Given the description of an element on the screen output the (x, y) to click on. 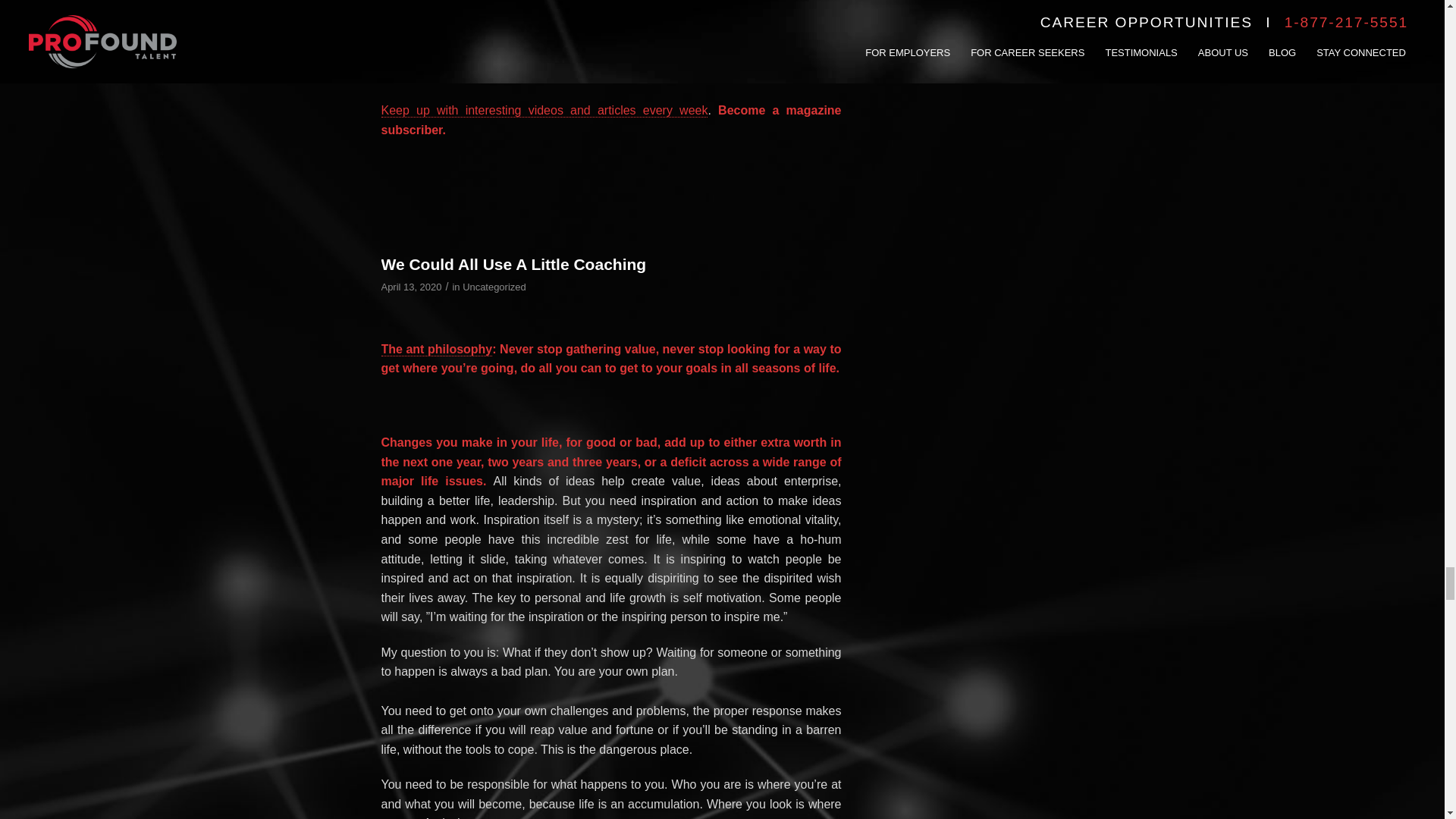
Permanent Link: We Could All Use A Little Coaching (513, 263)
